Given the description of an element on the screen output the (x, y) to click on. 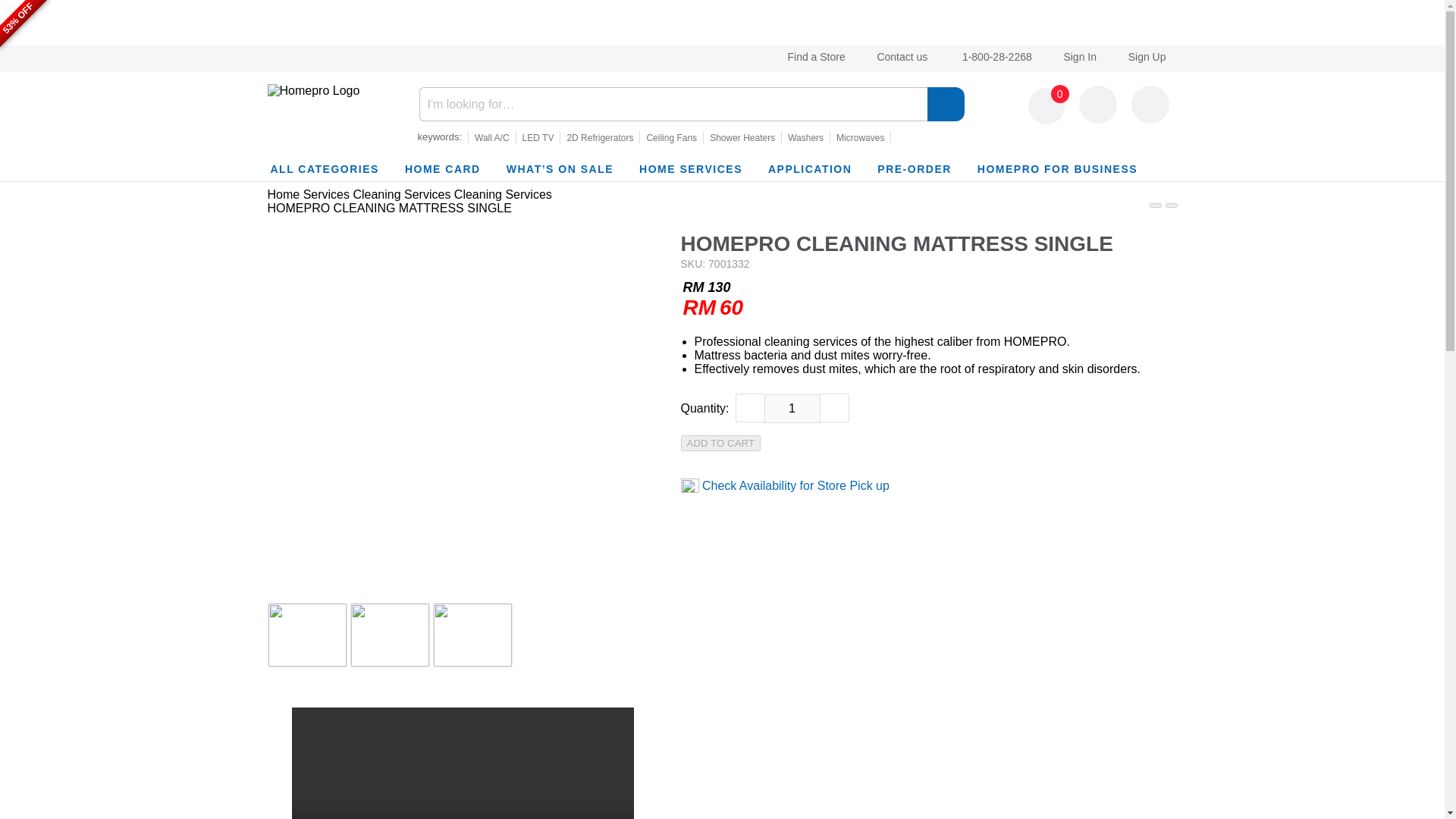
Shower Heaters (742, 137)
  Sign In (1077, 56)
Ceiling Fans (671, 137)
Cleaning Services (400, 194)
Cleaning Services (502, 194)
HOME SERVICES (690, 168)
  Sign Up (1144, 56)
0 (1046, 105)
PRE-ORDER (914, 168)
ALL CATEGORIES (323, 168)
Washers (805, 137)
Homepro Logo (312, 90)
  Contact us (899, 56)
Microwaves (859, 137)
ADD TO CART (721, 441)
